Given the description of an element on the screen output the (x, y) to click on. 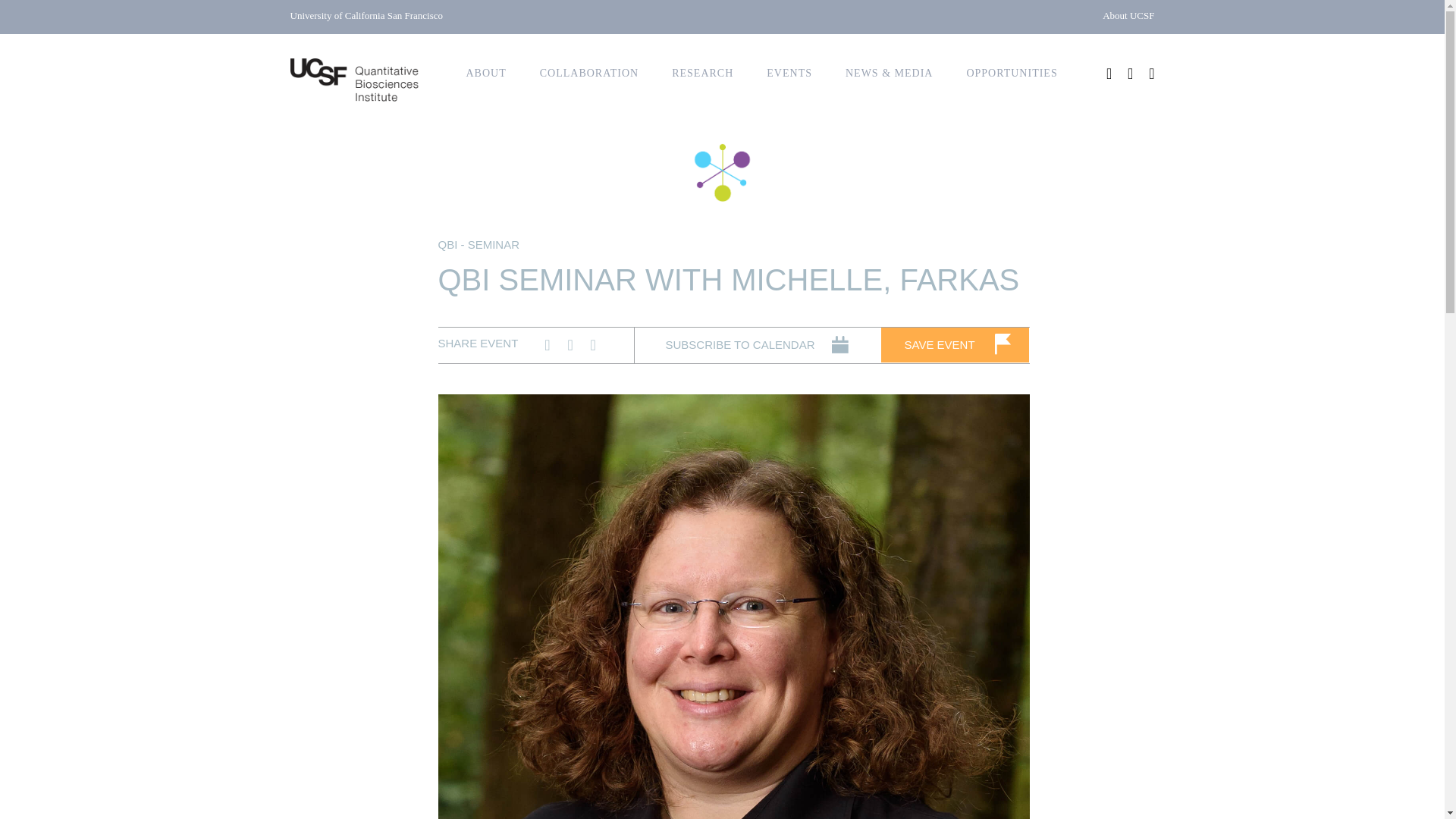
COLLABORATION (588, 73)
ABOUT (485, 73)
University of California San Francisco (365, 15)
About UCSF (1128, 15)
